Given the description of an element on the screen output the (x, y) to click on. 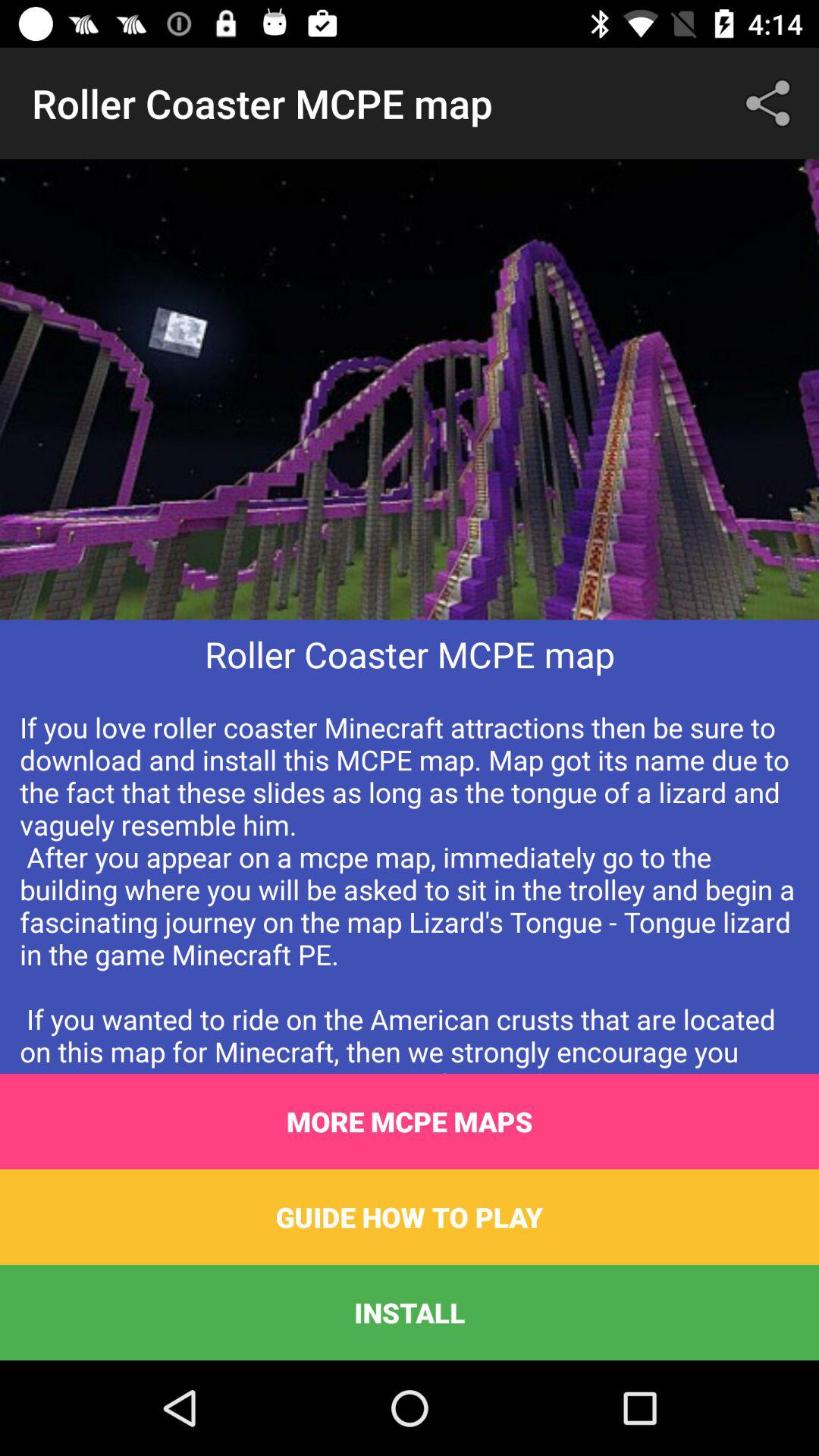
turn on the icon to the right of the roller coaster mcpe icon (771, 103)
